Given the description of an element on the screen output the (x, y) to click on. 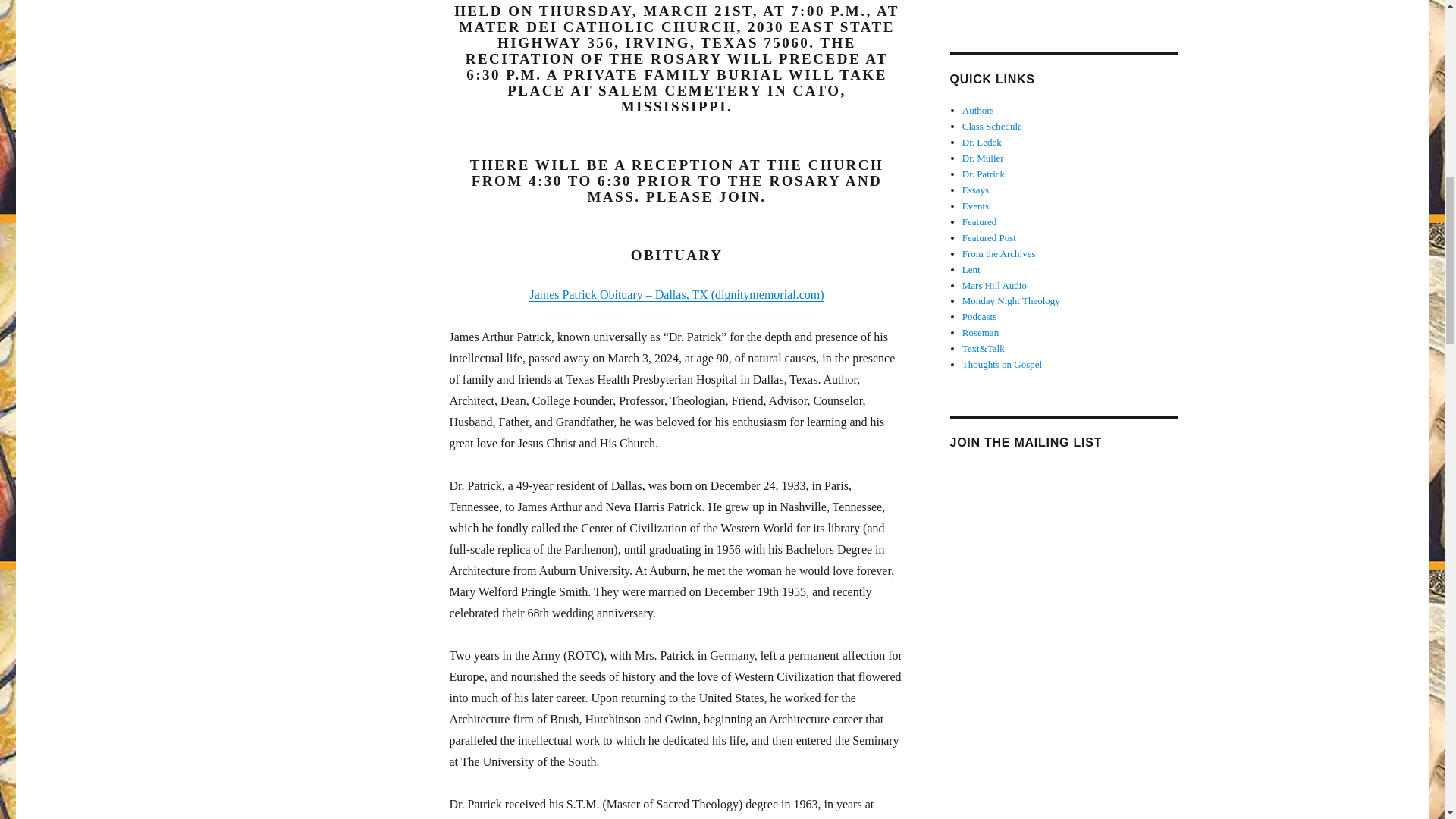
Essays (975, 189)
Events (975, 205)
Dr. Ledek (981, 142)
Dr. Patrick (983, 173)
Dr. Muller (983, 157)
Class Schedule (992, 125)
Featured (978, 221)
Authors (978, 110)
